Given the description of an element on the screen output the (x, y) to click on. 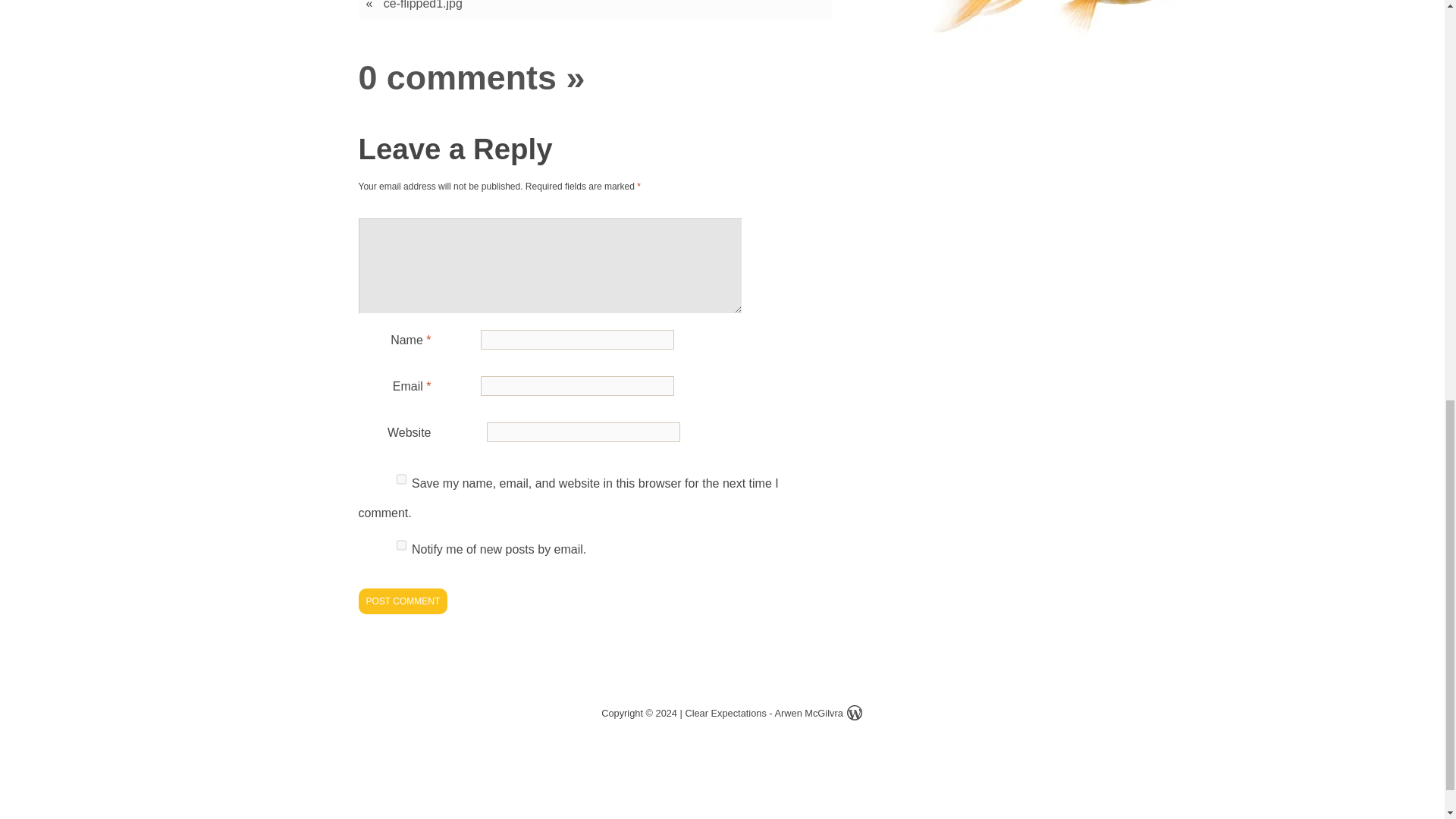
Post Comment (402, 601)
ce-flipped1.jpg (422, 6)
0 comments (457, 77)
Post Comment (402, 601)
